Given the description of an element on the screen output the (x, y) to click on. 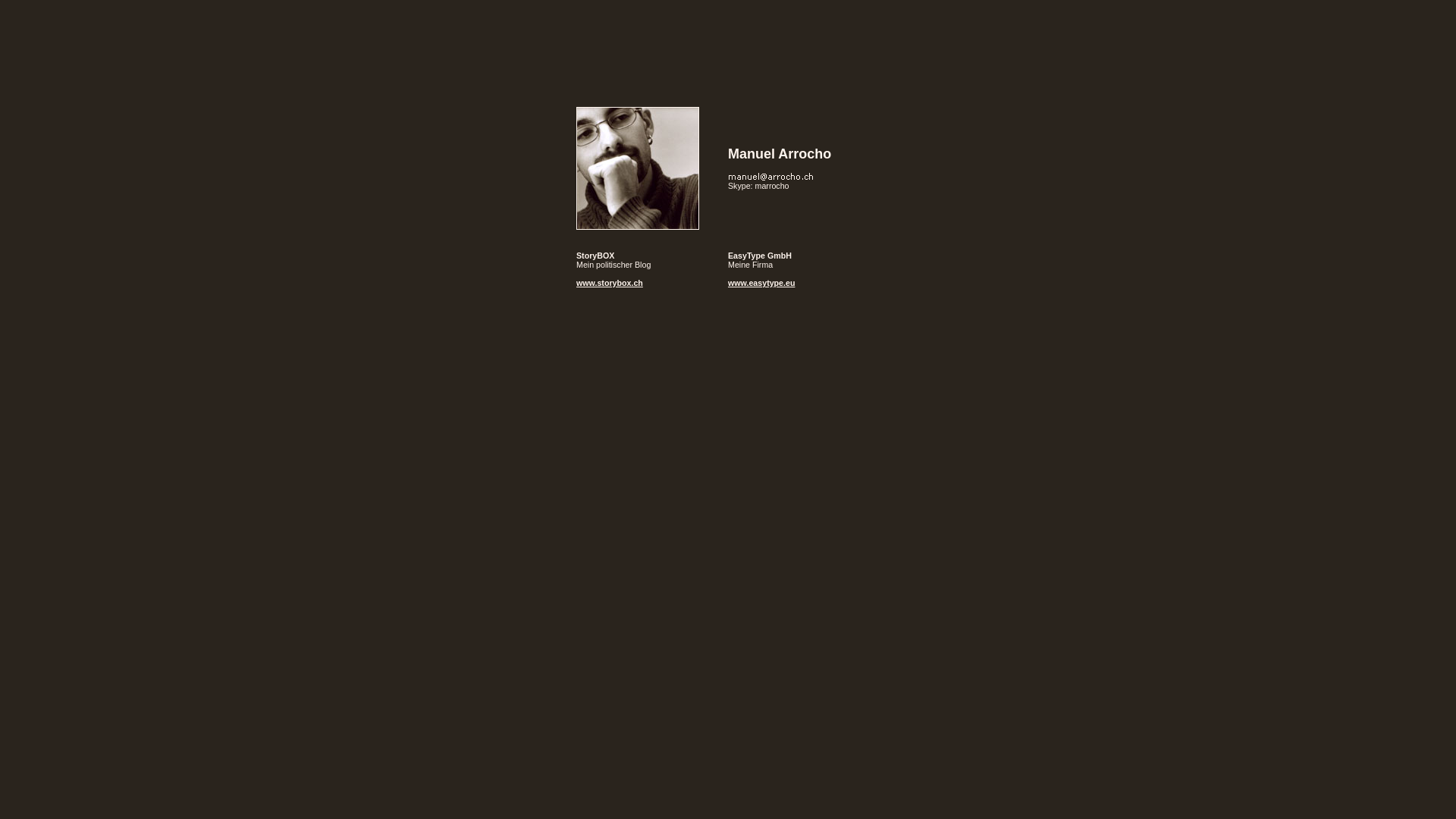
www.easytype.eu Element type: text (761, 282)
www.storybox.ch Element type: text (609, 282)
